Given the description of an element on the screen output the (x, y) to click on. 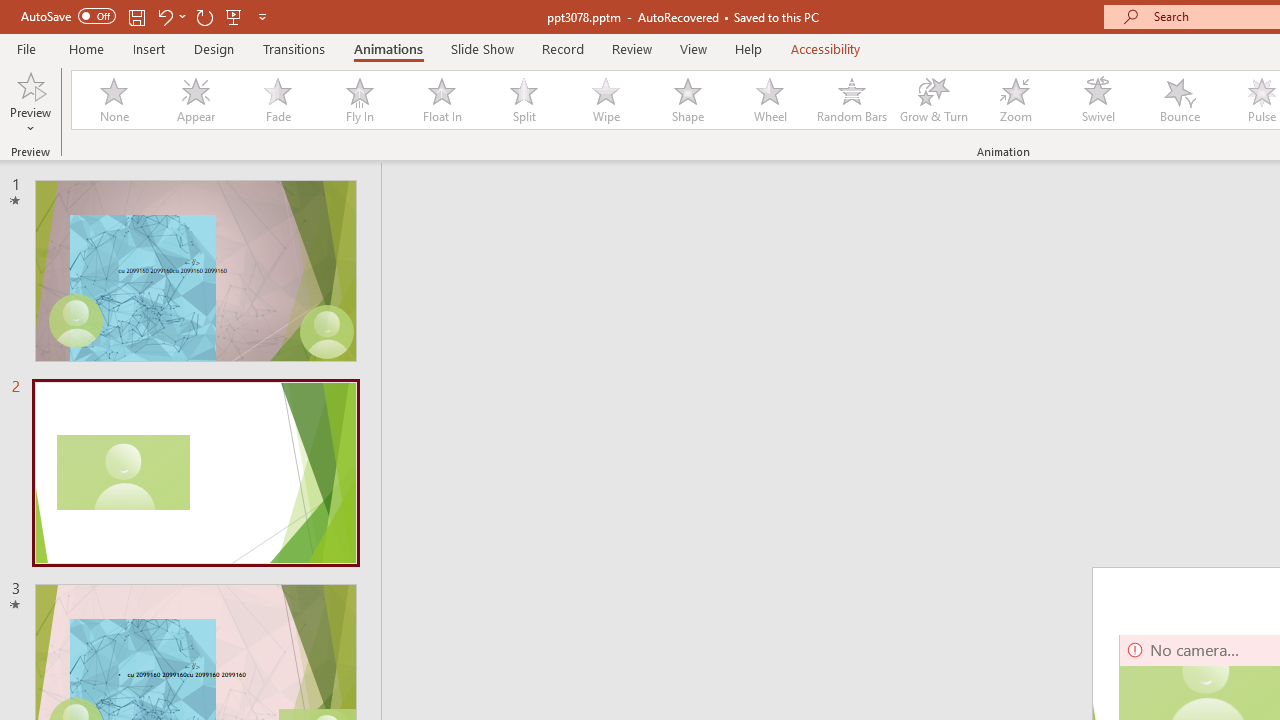
Fly In (359, 100)
Split (523, 100)
Fade (277, 100)
Shape (687, 100)
Float In (441, 100)
